Given the description of an element on the screen output the (x, y) to click on. 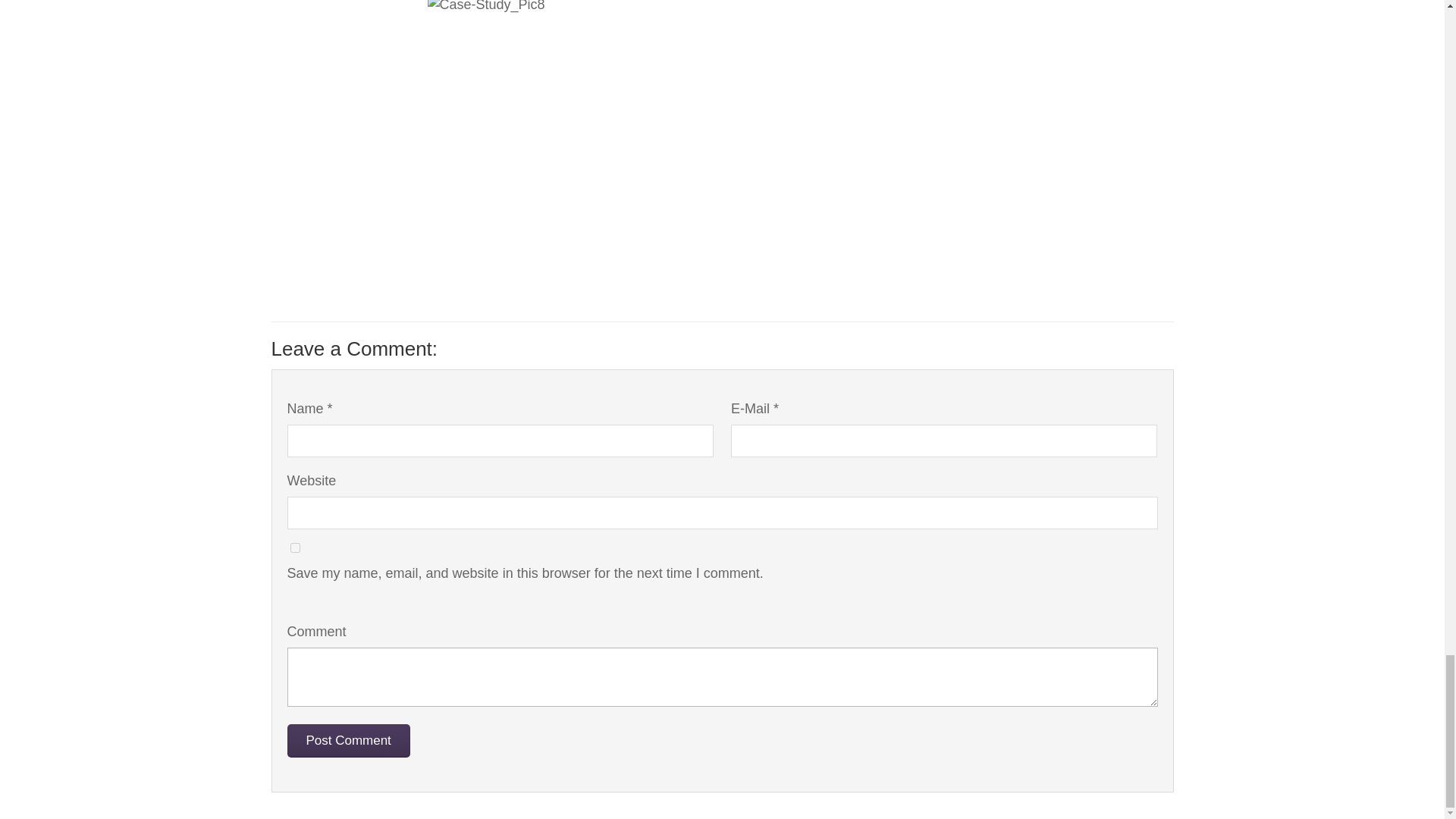
Post Comment (347, 740)
Post Comment (347, 740)
yes (294, 547)
